Given the description of an element on the screen output the (x, y) to click on. 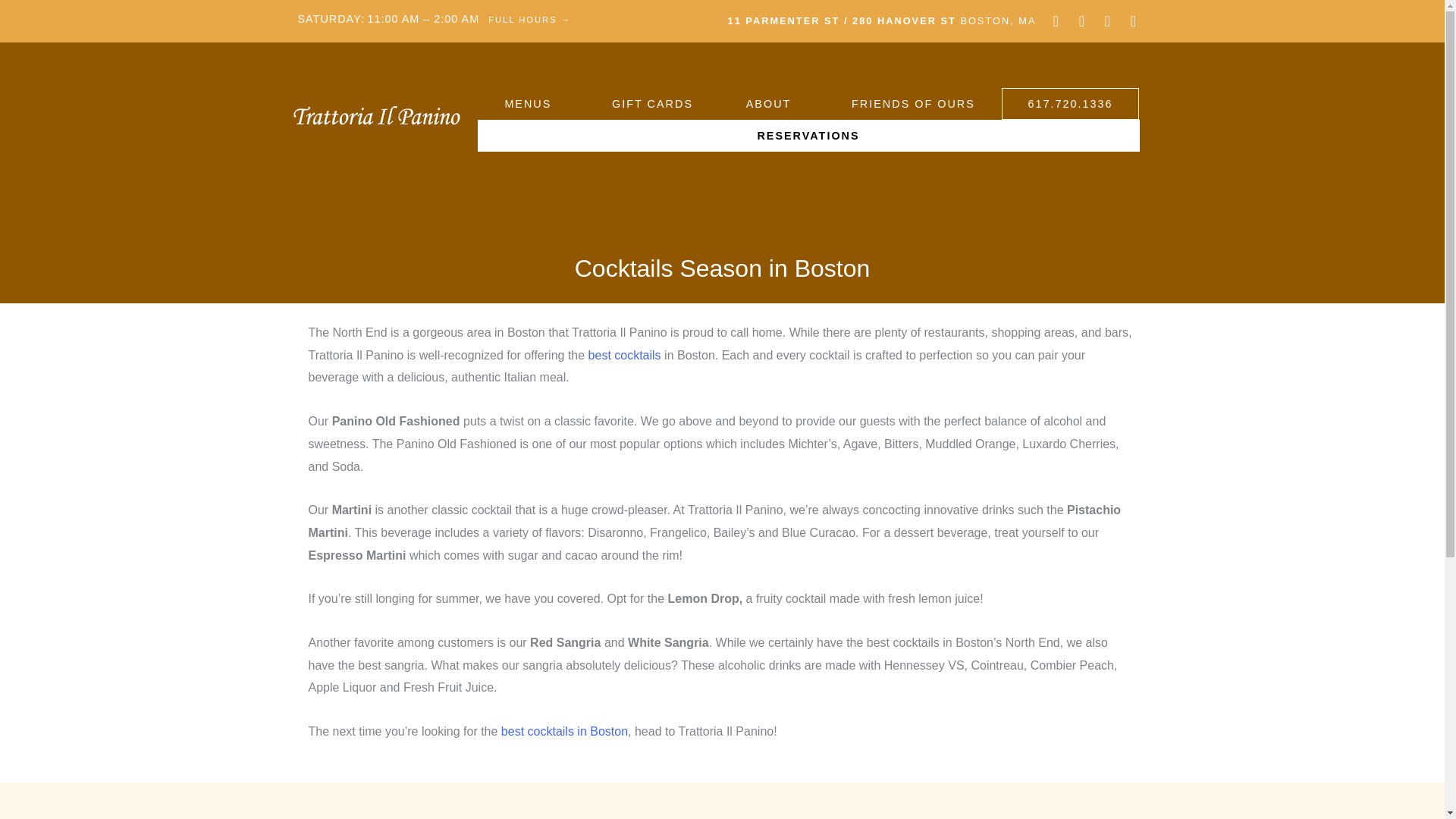
best cocktails (624, 354)
FRIENDS OF OURS (913, 103)
GIFT CARDS (652, 103)
best cocktails in Boston (563, 730)
RESERVATIONS (808, 135)
MENUS (531, 103)
617.720.1336 (1070, 103)
ABOUT (772, 103)
